Given the description of an element on the screen output the (x, y) to click on. 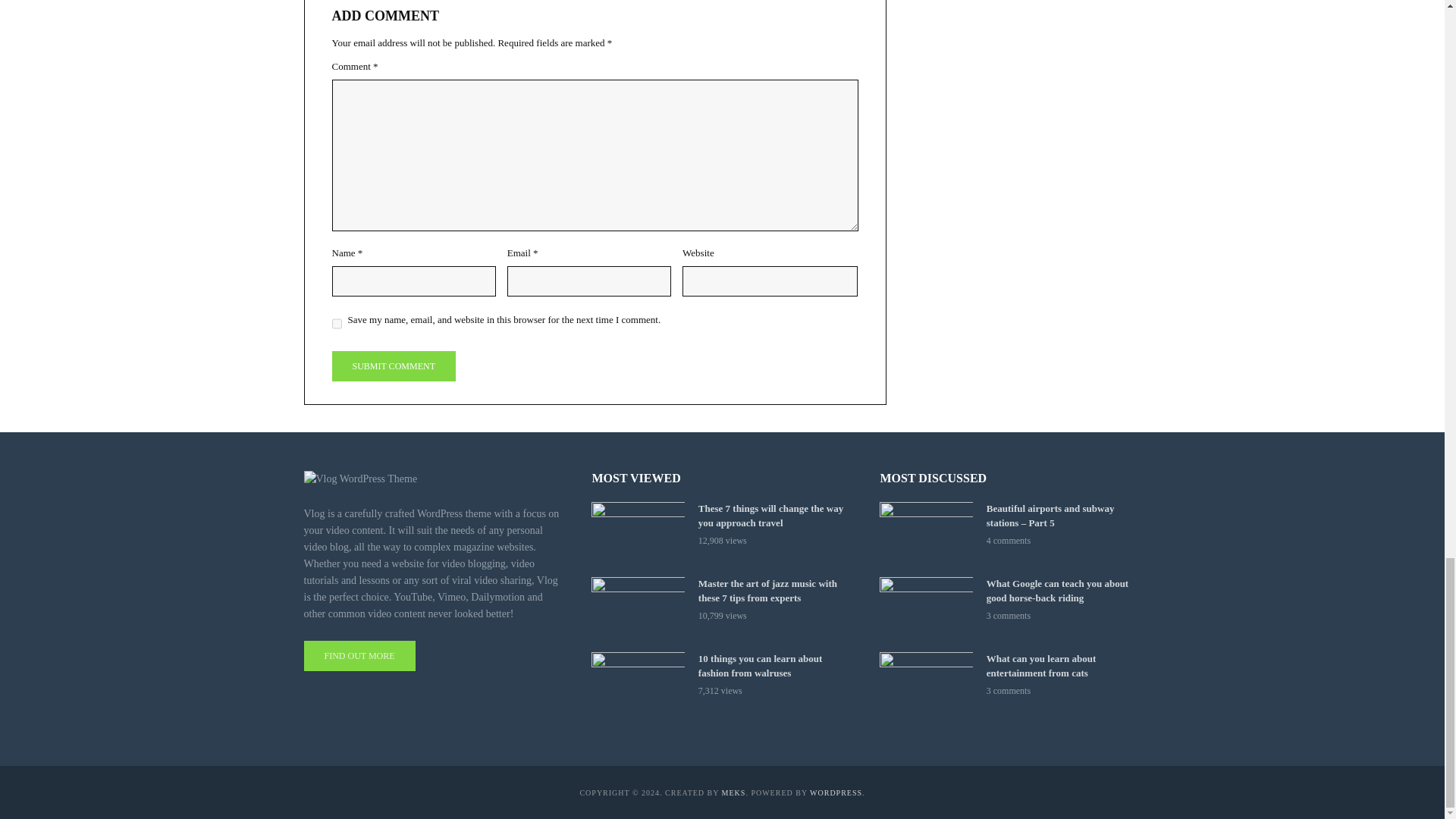
What Google can teach you about good horse-back riding (925, 607)
These 7 things will change the way you approach travel (637, 532)
Master the art of jazz music with these 7 tips from experts (637, 607)
Submit Comment (393, 366)
10 things you can learn about fashion from walruses (637, 682)
Submit Comment (393, 366)
What can you learn about entertainment from cats (925, 682)
